Given the description of an element on the screen output the (x, y) to click on. 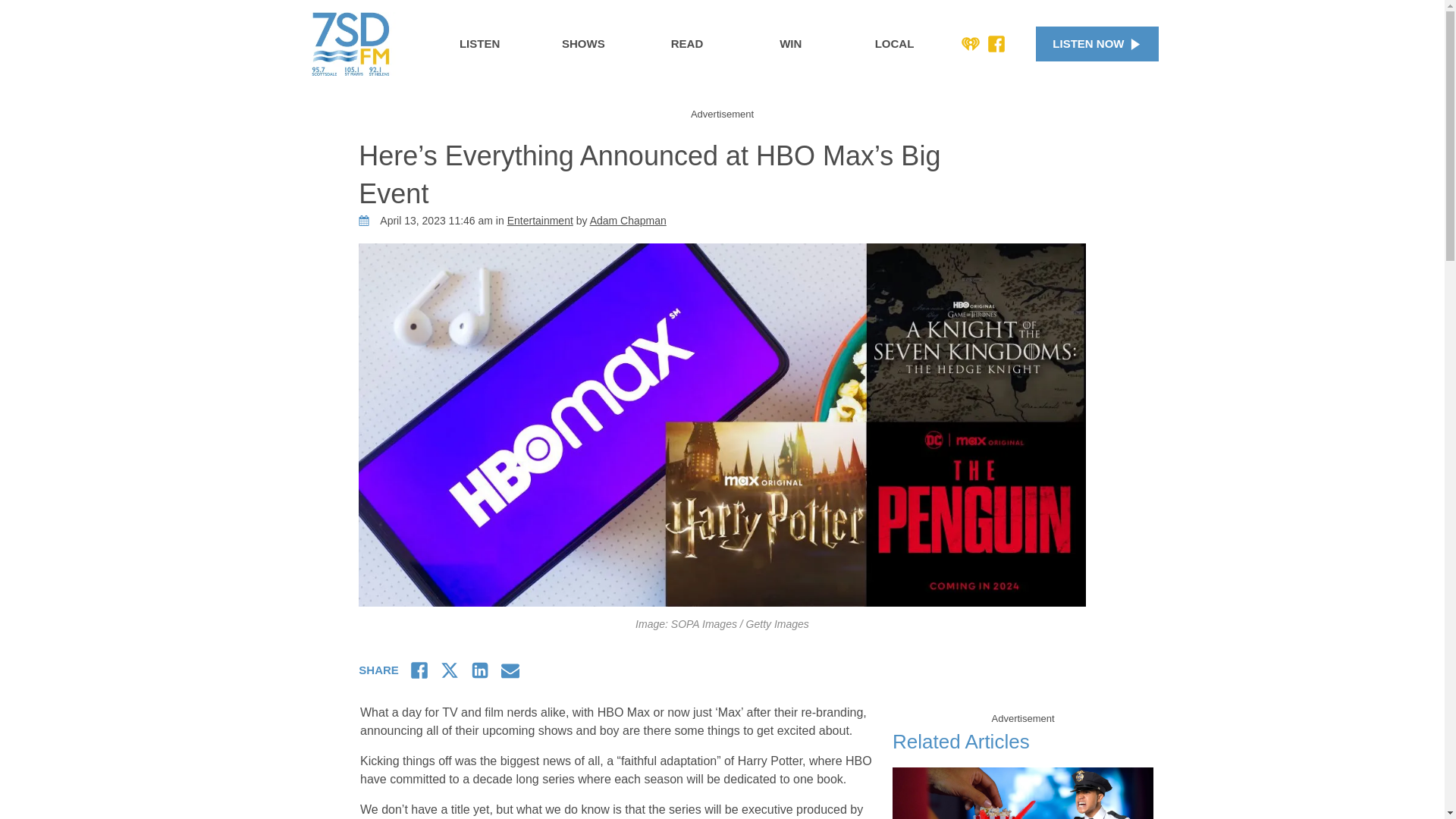
LISTEN NOW (1096, 44)
Facebook (996, 44)
LISTEN (479, 43)
LOCAL (894, 43)
iHeart (969, 44)
READ (686, 43)
SHOWS (582, 43)
Posts by Adam Chapman (627, 220)
WIN (790, 43)
